Given the description of an element on the screen output the (x, y) to click on. 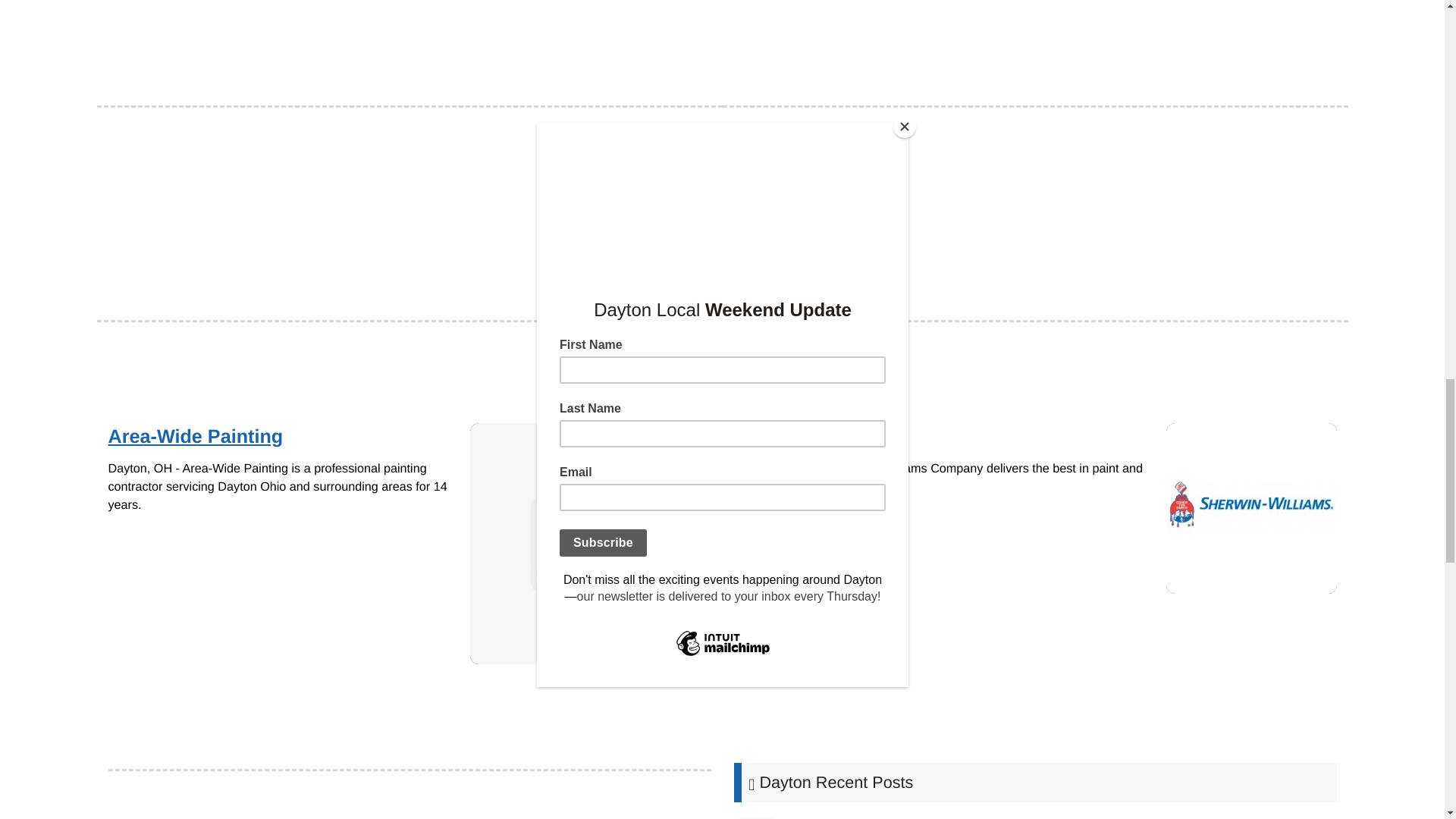
Sherwin-Williams (1251, 508)
Area-Wide Painting (590, 543)
